Given the description of an element on the screen output the (x, y) to click on. 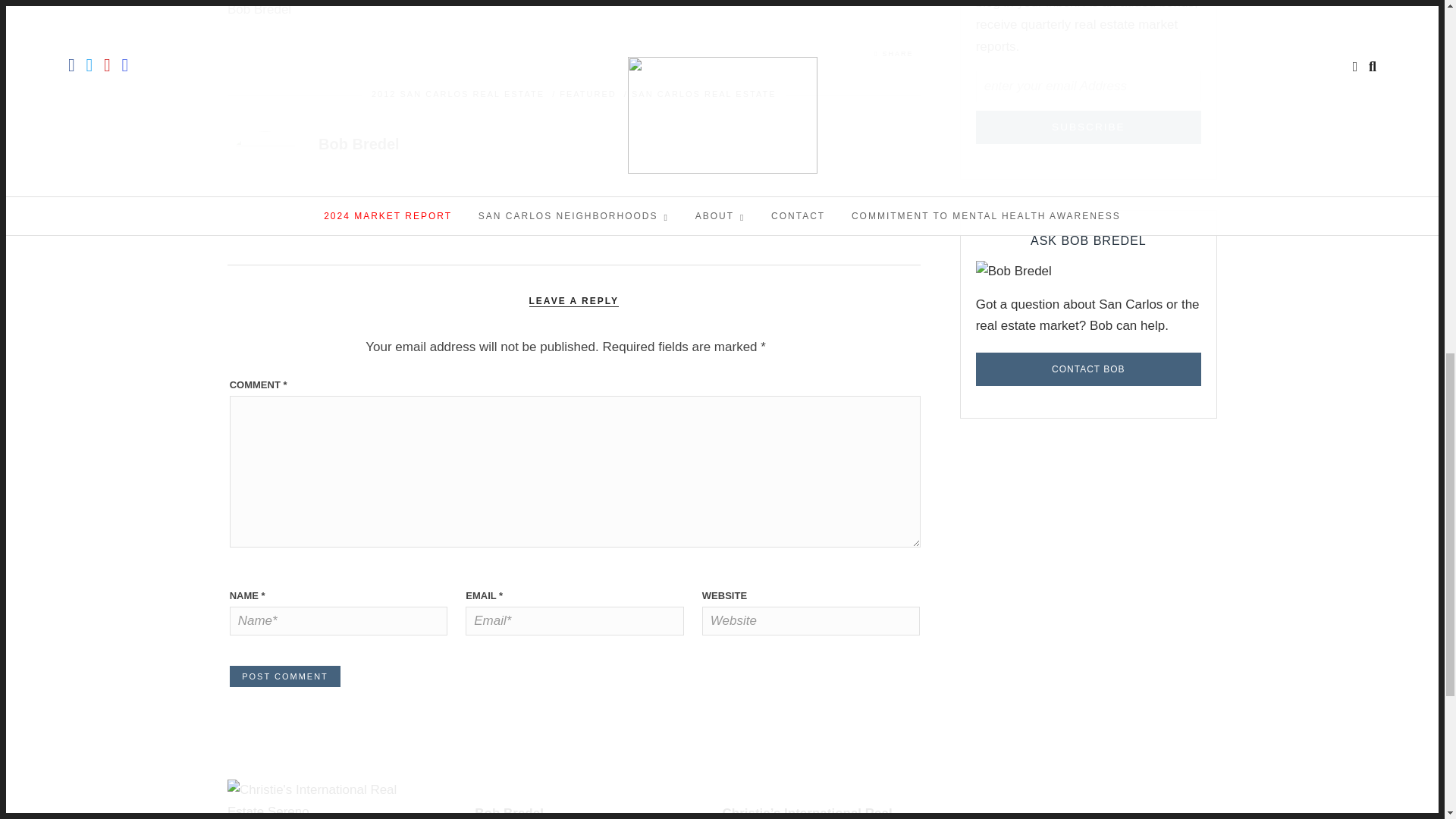
2012 SAN CARLOS REAL ESTATE (457, 93)
Subscribe (1088, 127)
Post Comment (285, 676)
